Given the description of an element on the screen output the (x, y) to click on. 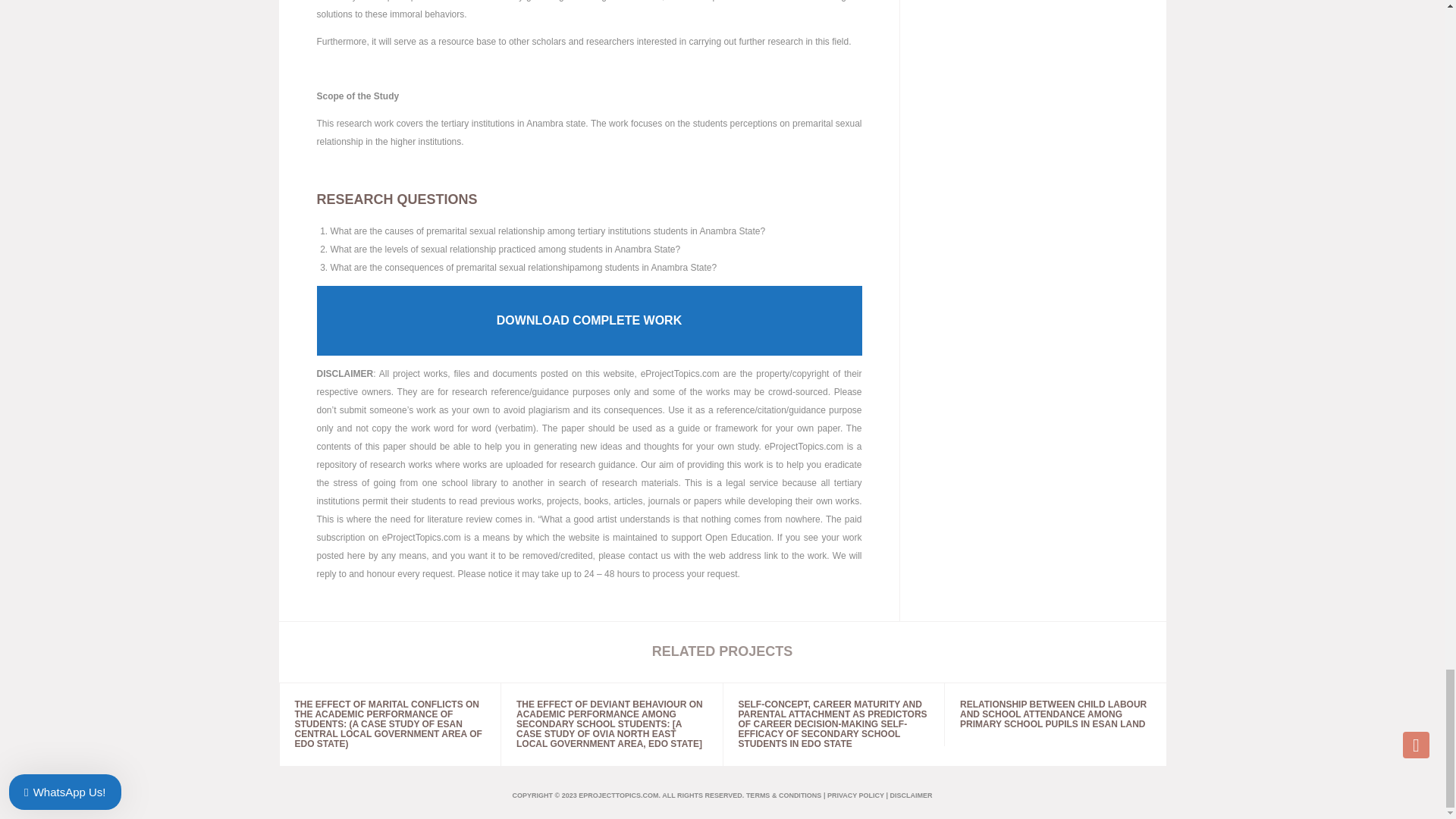
PRIVACY POLICY (855, 795)
DOWNLOAD COMPLETE WORK (589, 320)
DISCLAIMER (910, 795)
